Given the description of an element on the screen output the (x, y) to click on. 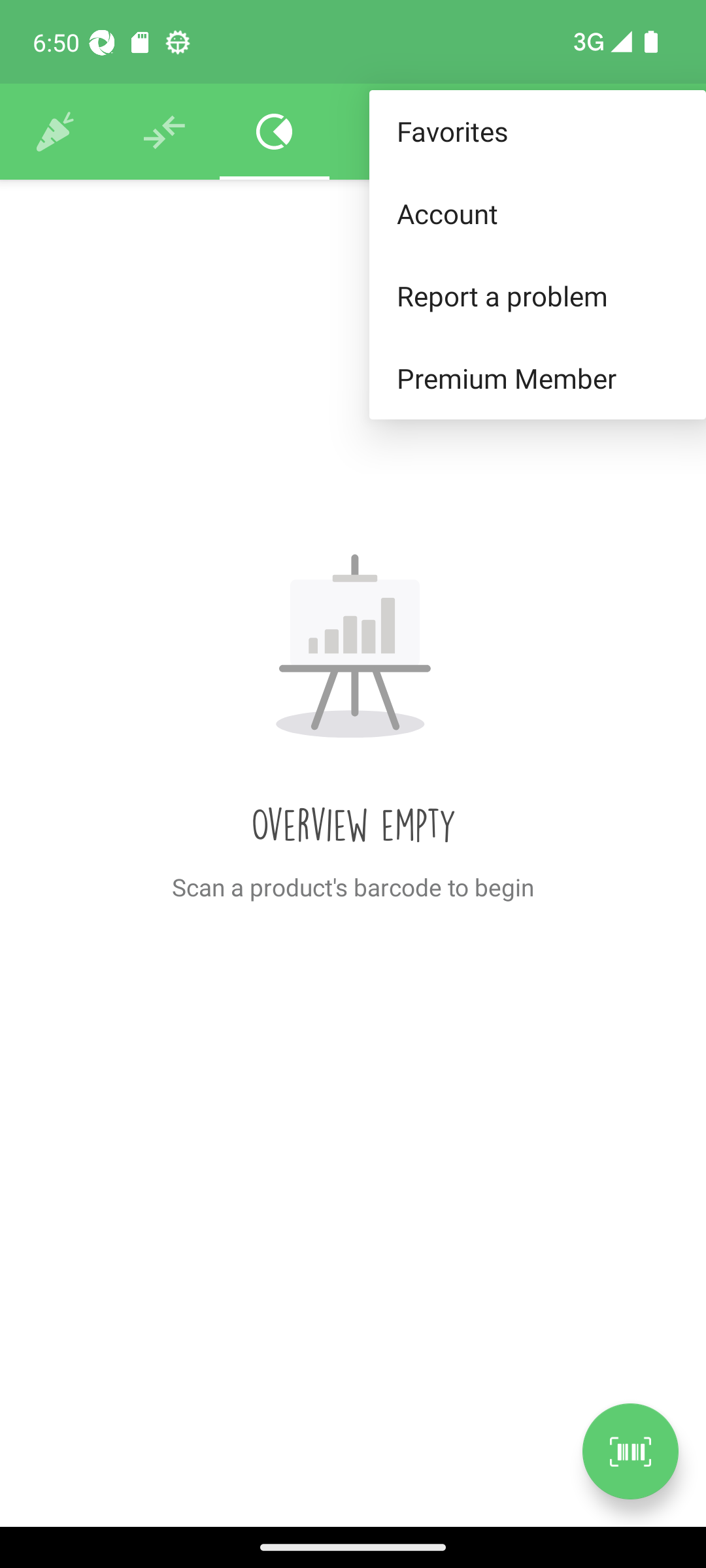
Favorites (537, 131)
Account (537, 213)
Report a problem (537, 295)
Premium Member (537, 378)
